Given the description of an element on the screen output the (x, y) to click on. 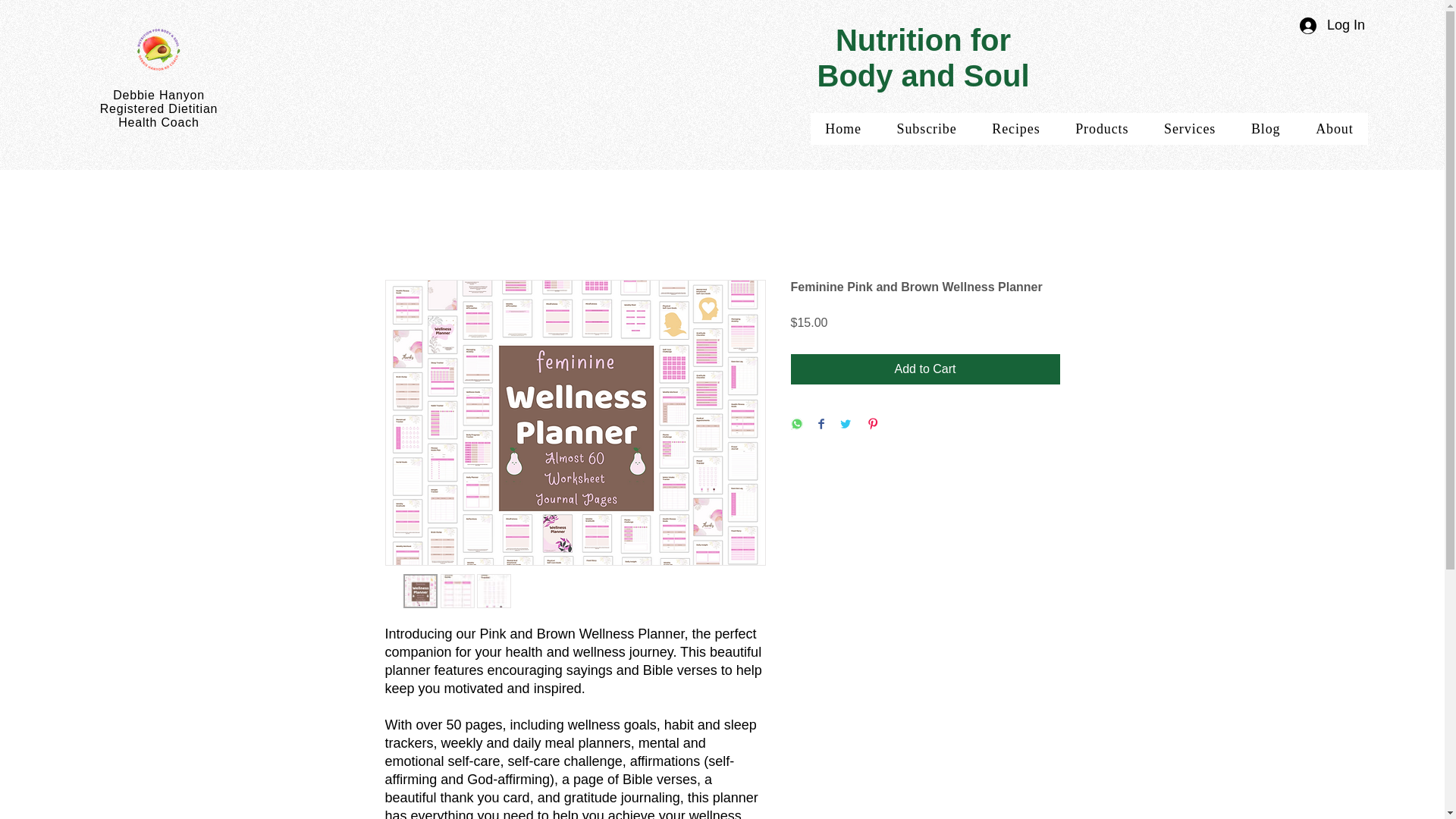
Recipes (1015, 128)
Registered Dietitian (159, 108)
Debbie Hanyon (159, 94)
Subscribe (926, 128)
Body and Soul (1089, 128)
Services (922, 75)
Home (1190, 128)
Nutrition for (843, 128)
Add to Cart (922, 39)
About (924, 368)
Health Coach (1334, 128)
Log In (158, 122)
Blog (1331, 25)
Products (1265, 128)
